Given the description of an element on the screen output the (x, y) to click on. 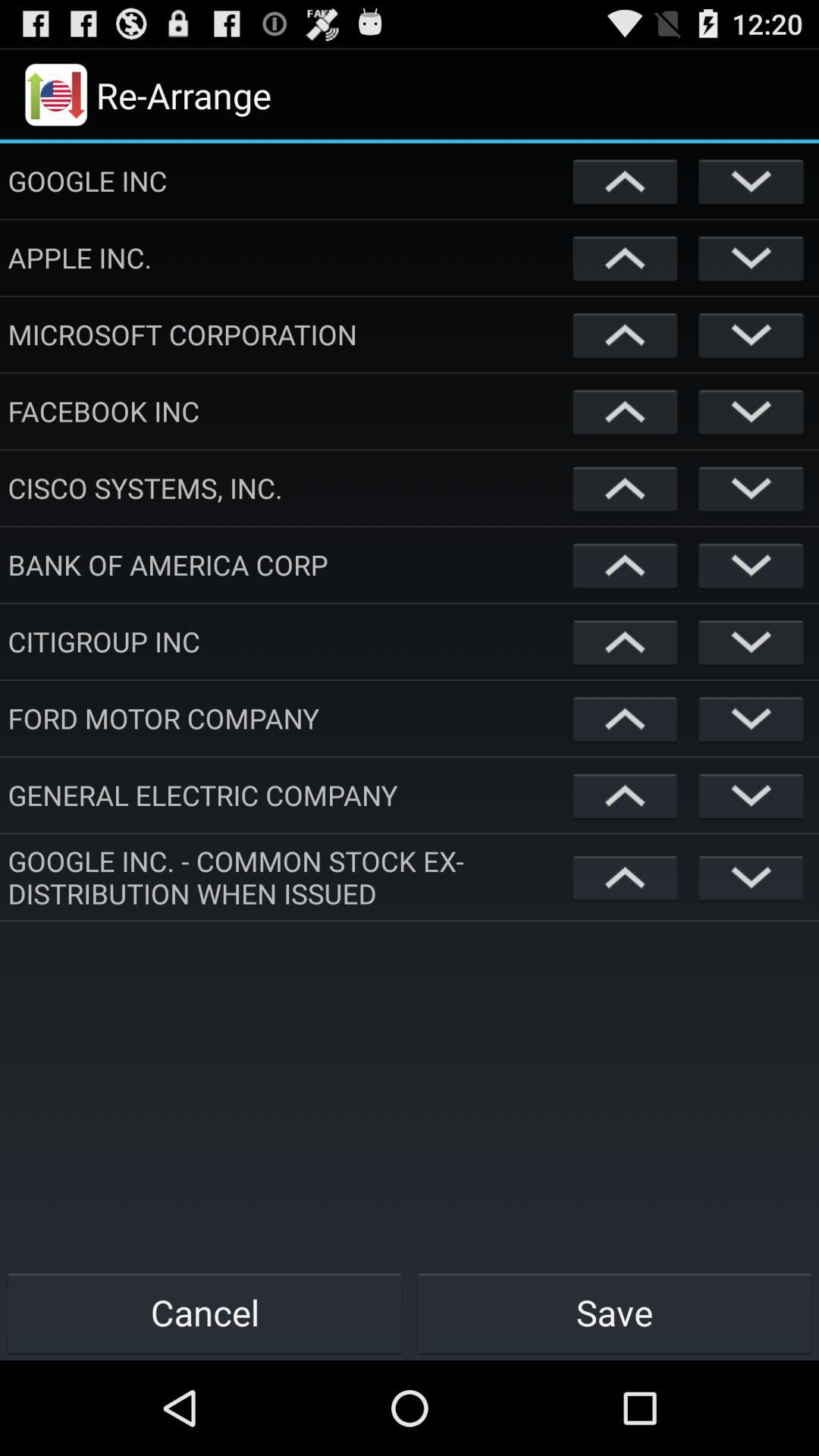
click icon below google inc common item (614, 1312)
